Given the description of an element on the screen output the (x, y) to click on. 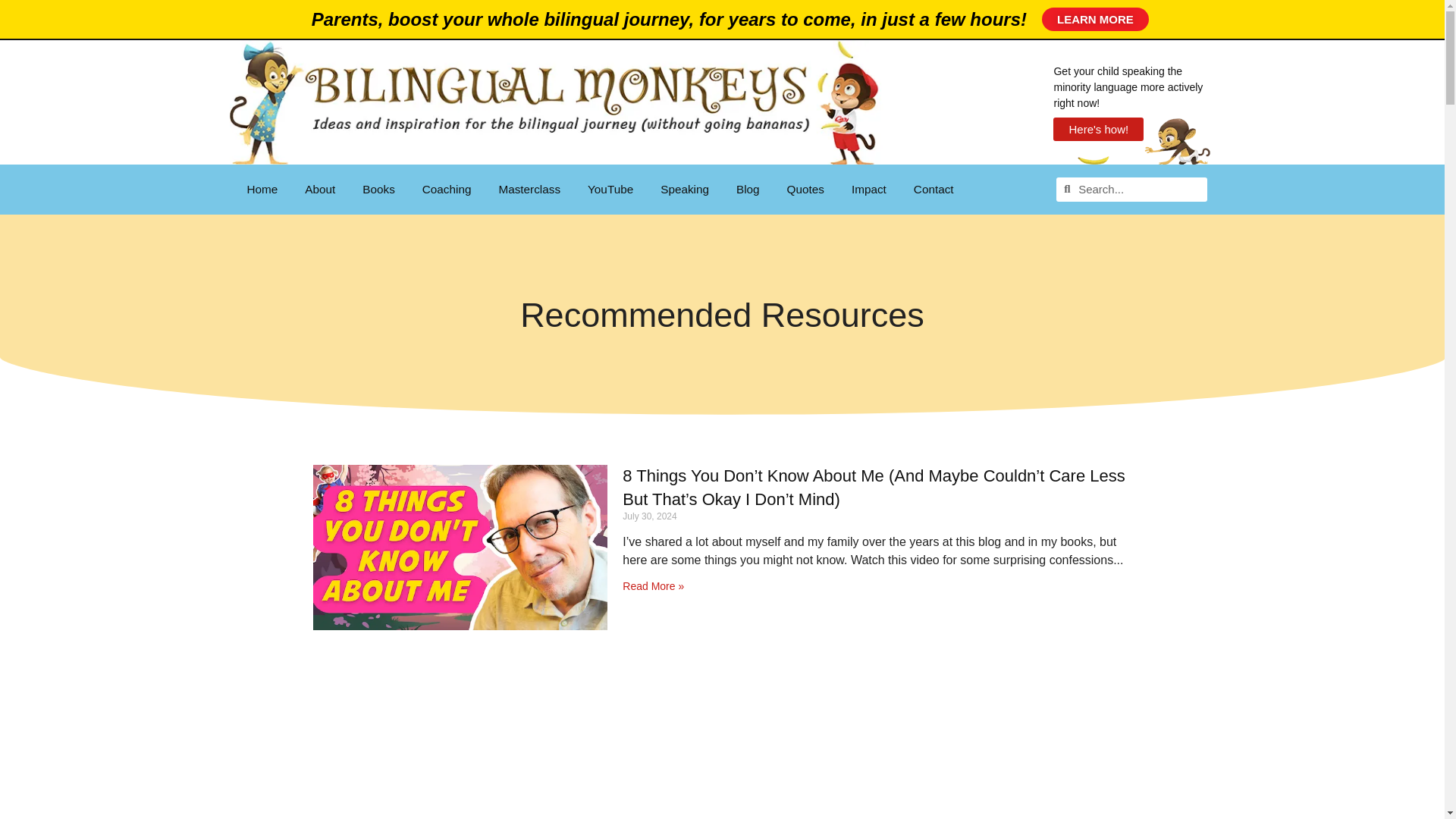
Coaching (446, 189)
Quotes (805, 189)
Contact (933, 189)
YouTube (609, 189)
Home (262, 189)
Blog (747, 189)
LEARN MORE (1095, 19)
Masterclass (528, 189)
Books (379, 189)
Impact (868, 189)
